Given the description of an element on the screen output the (x, y) to click on. 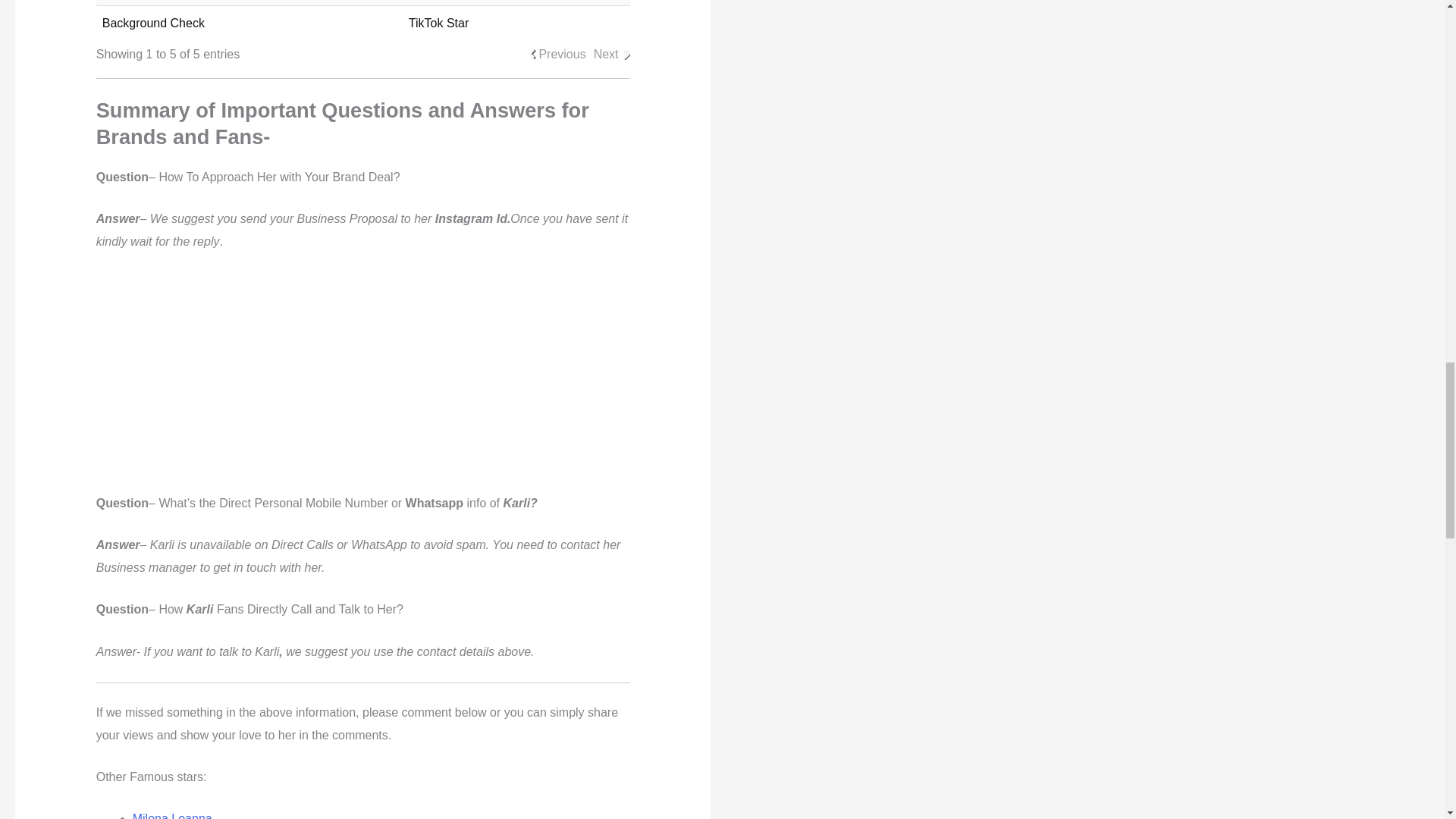
Previous (561, 54)
Milena Loanna (172, 815)
Next (606, 54)
